Given the description of an element on the screen output the (x, y) to click on. 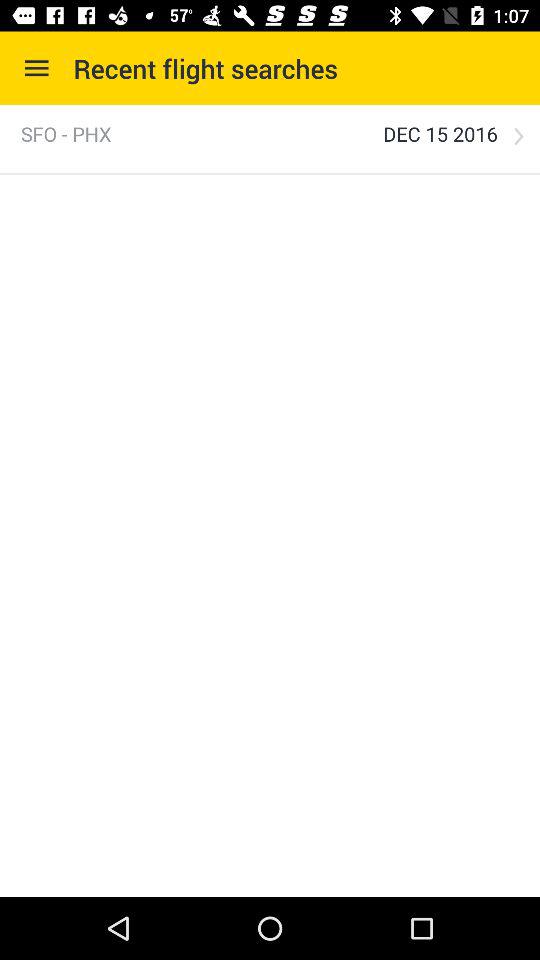
click item to the right of the sfo - phx item (440, 133)
